Given the description of an element on the screen output the (x, y) to click on. 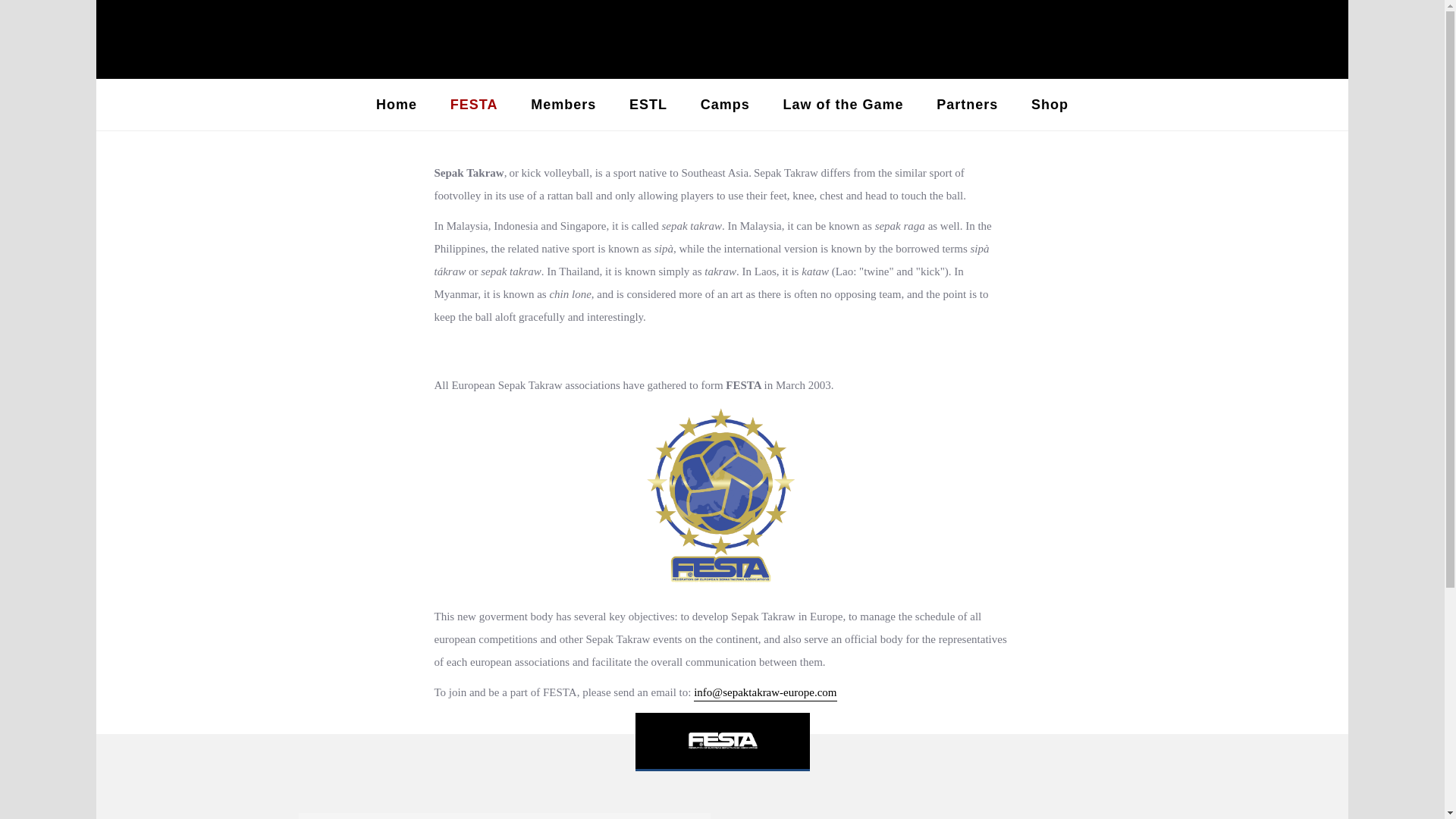
Partners (967, 104)
FESTA (474, 104)
Home (396, 104)
Shop (1049, 104)
Members (563, 104)
Camps (725, 104)
ESTL (648, 104)
Law of the Game (842, 104)
